Given the description of an element on the screen output the (x, y) to click on. 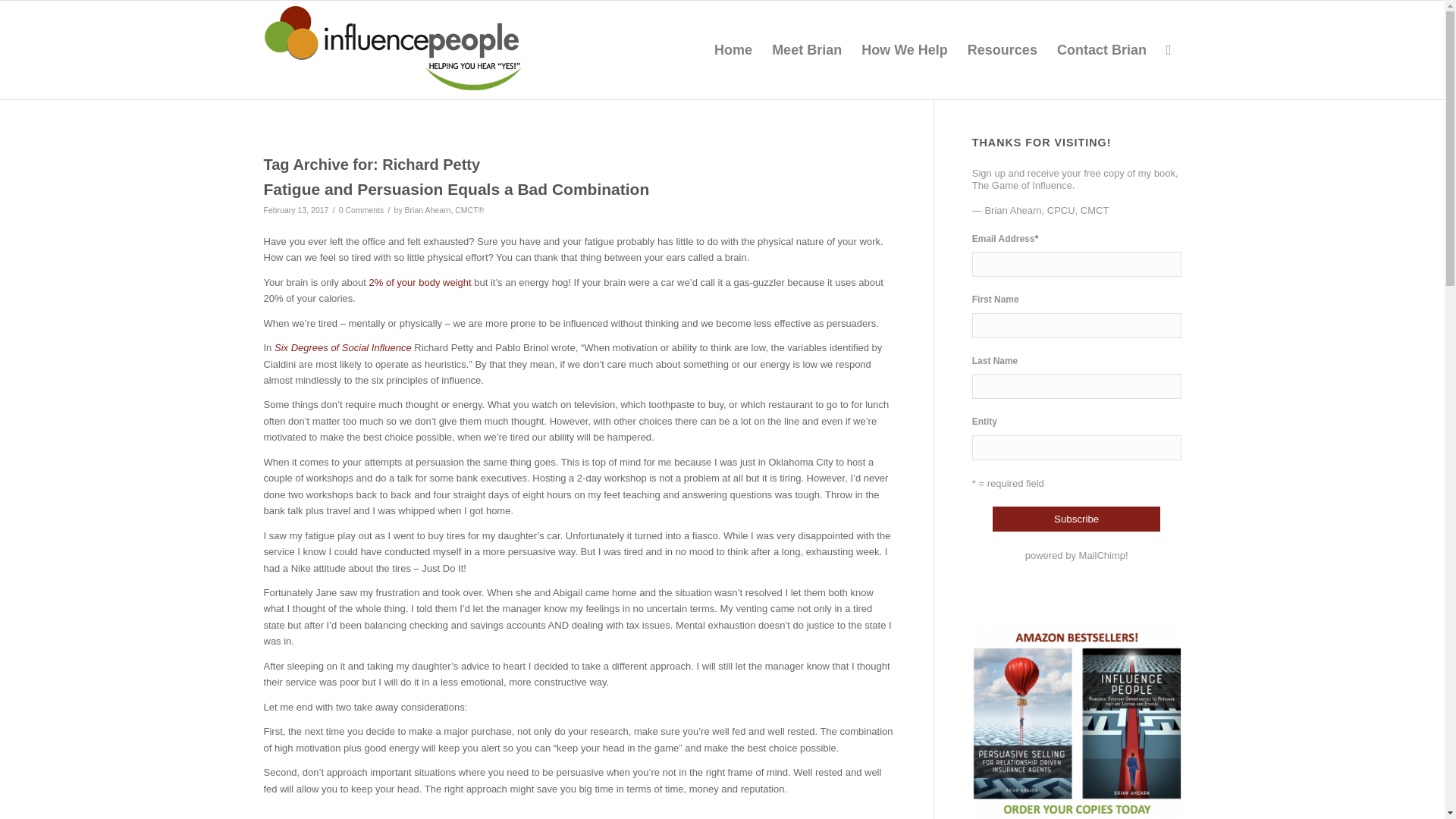
Fatigue and Persuasion Equals a Bad Combination (456, 189)
logo-2024 (392, 47)
MailChimp (1101, 555)
Six Degrees of Social Influence (343, 347)
Subscribe (1076, 518)
Meet Brian (806, 49)
Contact Brian (1101, 49)
Resources (1002, 49)
How We Help (904, 49)
0 Comments (361, 209)
Subscribe (1076, 518)
